Given the description of an element on the screen output the (x, y) to click on. 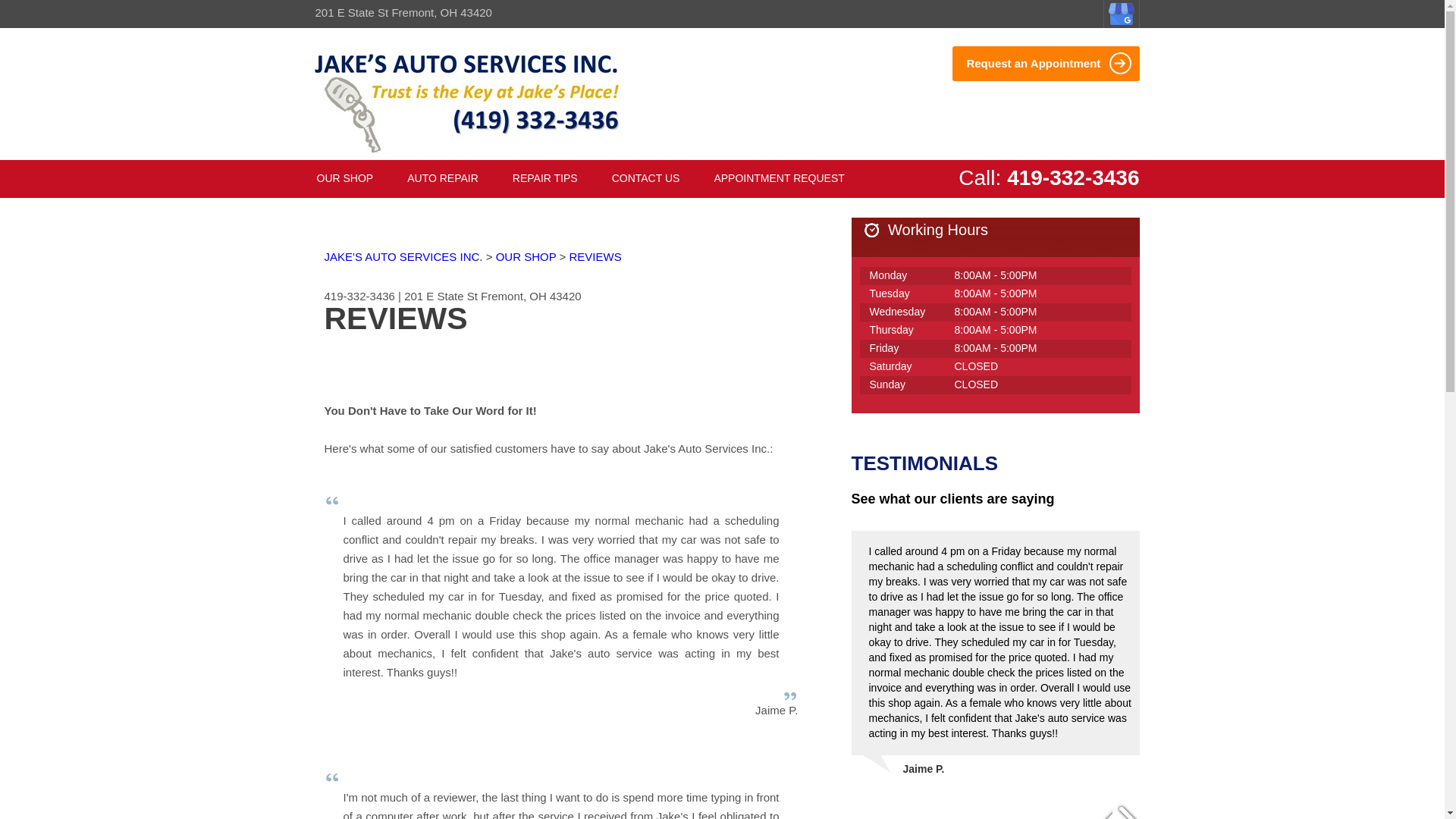
Request an Appointment (1045, 63)
JAKE'S AUTO SERVICES INC. (403, 256)
REVIEWS (595, 256)
419-332-3436 (359, 295)
201 E State St (440, 295)
419-332-3436 (1072, 177)
OUR SHOP (344, 178)
APPOINTMENT REQUEST (777, 178)
OUR SHOP (526, 256)
AUTO REPAIR (442, 178)
REPAIR TIPS (544, 178)
CONTACT US (644, 178)
Fremont, OH 43420 (530, 295)
